Given the description of an element on the screen output the (x, y) to click on. 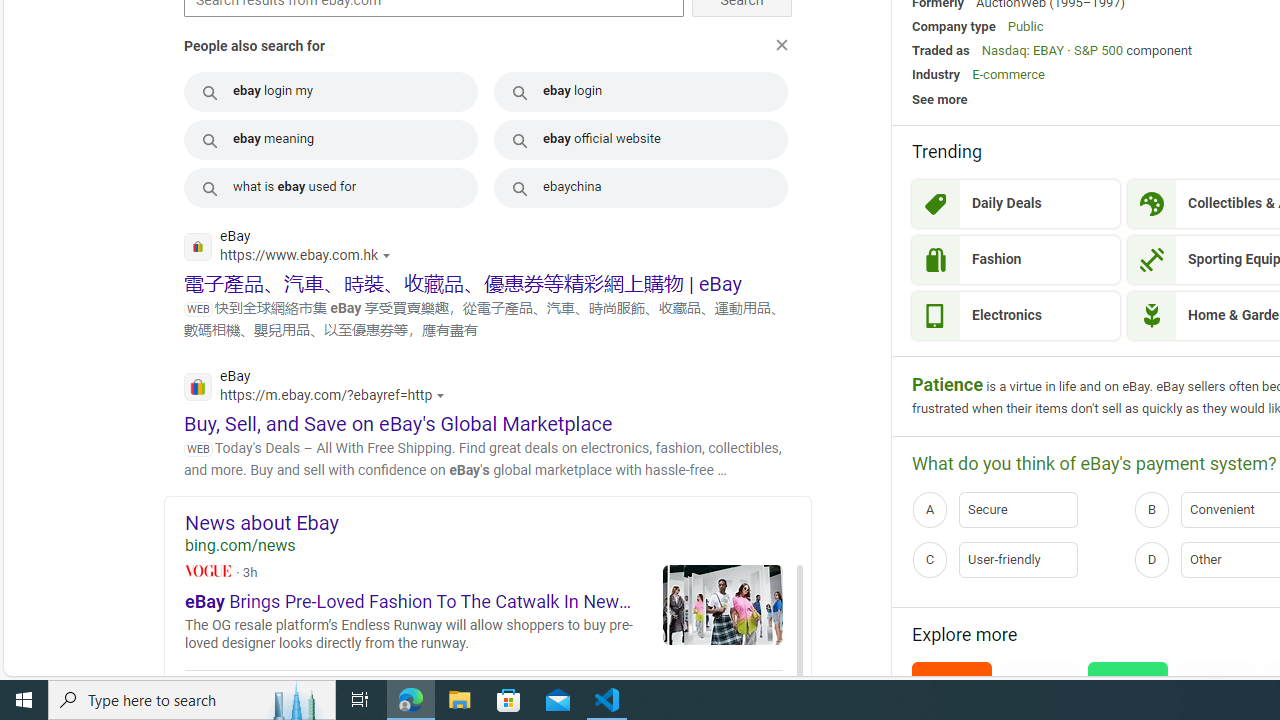
Fashion (1015, 259)
Daily Deals (1015, 204)
Public (1025, 25)
ebaychina (641, 187)
Electronics (1015, 315)
Buy, Sell, and Save on eBay's Global Marketplace (398, 423)
Vogue (207, 569)
Traded as (940, 50)
Nasdaq (1003, 50)
Electronics (1015, 315)
what is ebay used for (330, 187)
Global web icon (197, 386)
